Given the description of an element on the screen output the (x, y) to click on. 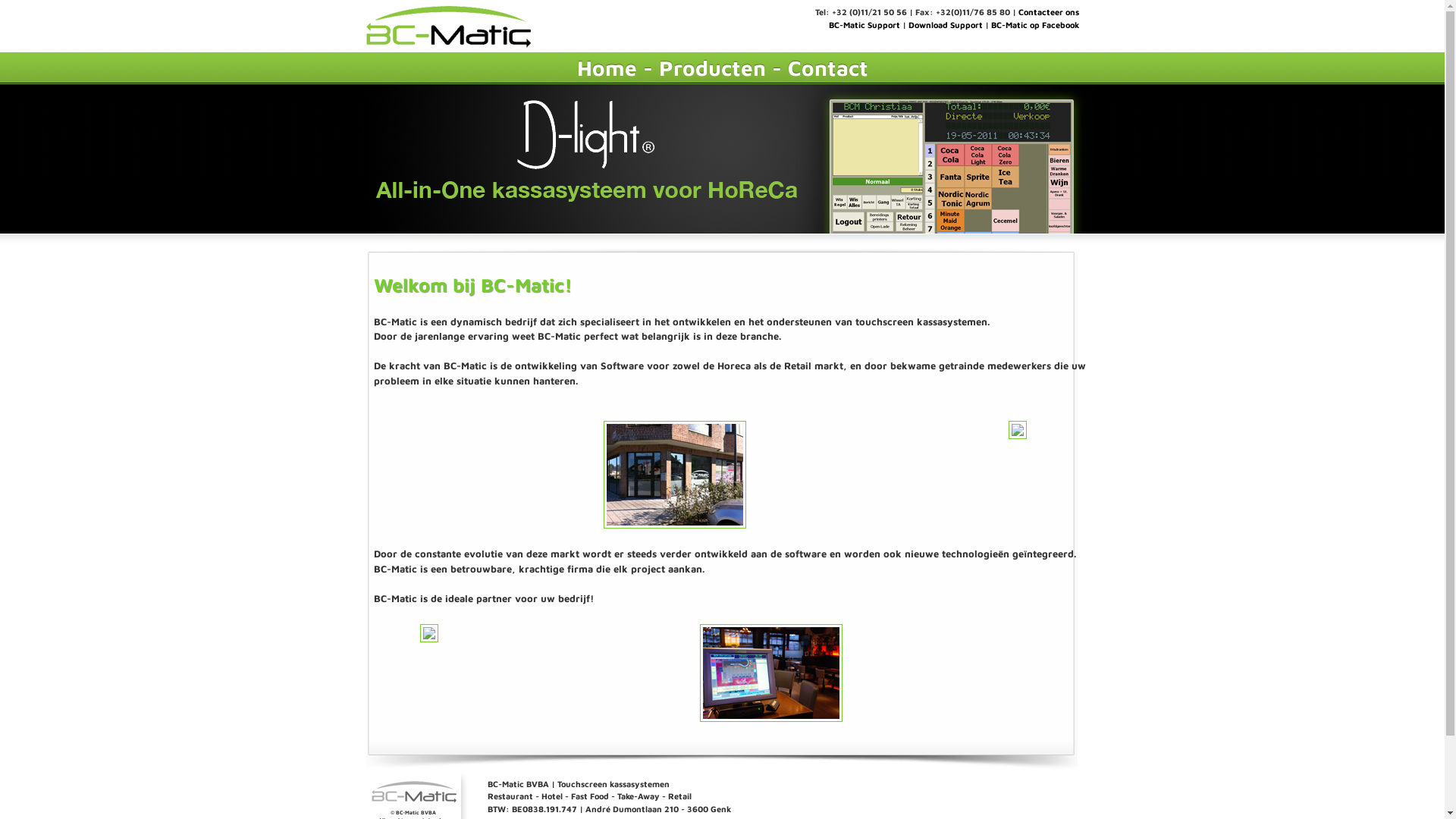
Contact Element type: text (827, 67)
BC-Matic Support Element type: text (863, 24)
BC-Matic op Facebook Element type: text (1034, 24)
Home Element type: text (606, 67)
Producten Element type: text (711, 67)
Contacteer ons Element type: text (1047, 11)
Download Support Element type: text (945, 24)
